Given the description of an element on the screen output the (x, y) to click on. 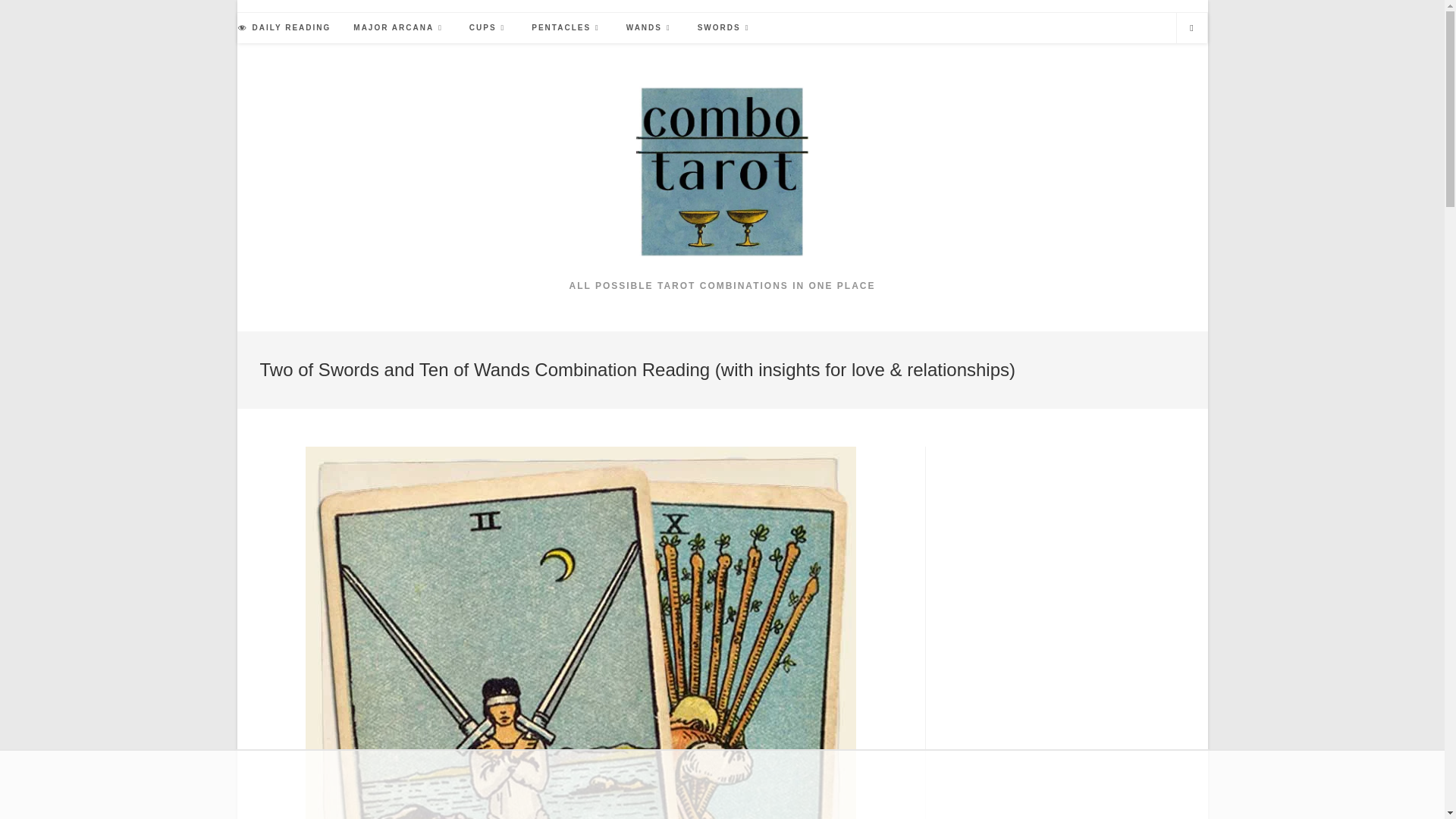
DAILY READING (283, 28)
CUPS (488, 28)
MAJOR ARCANA (400, 28)
